Given the description of an element on the screen output the (x, y) to click on. 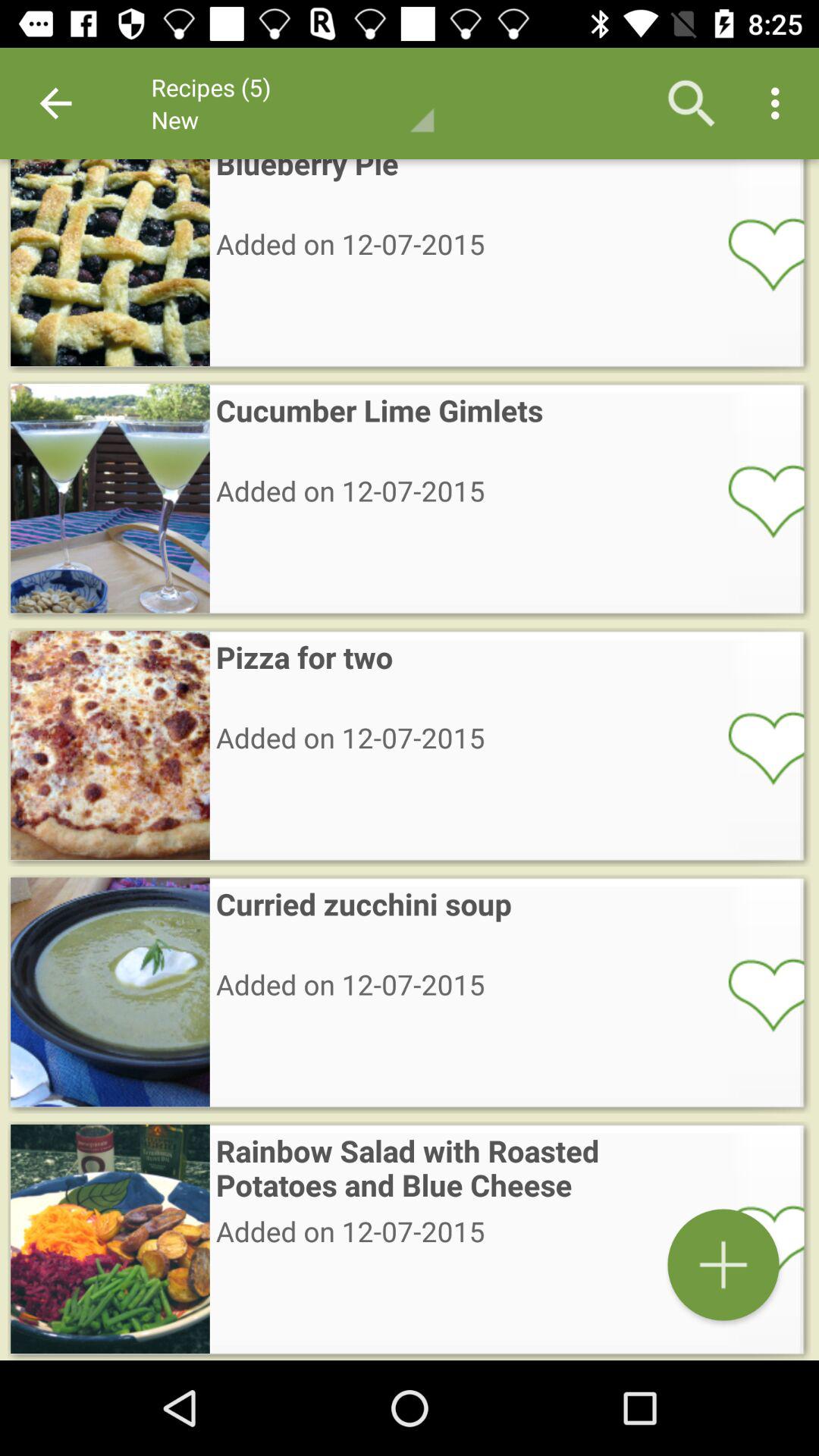
add more details (723, 1264)
